Given the description of an element on the screen output the (x, y) to click on. 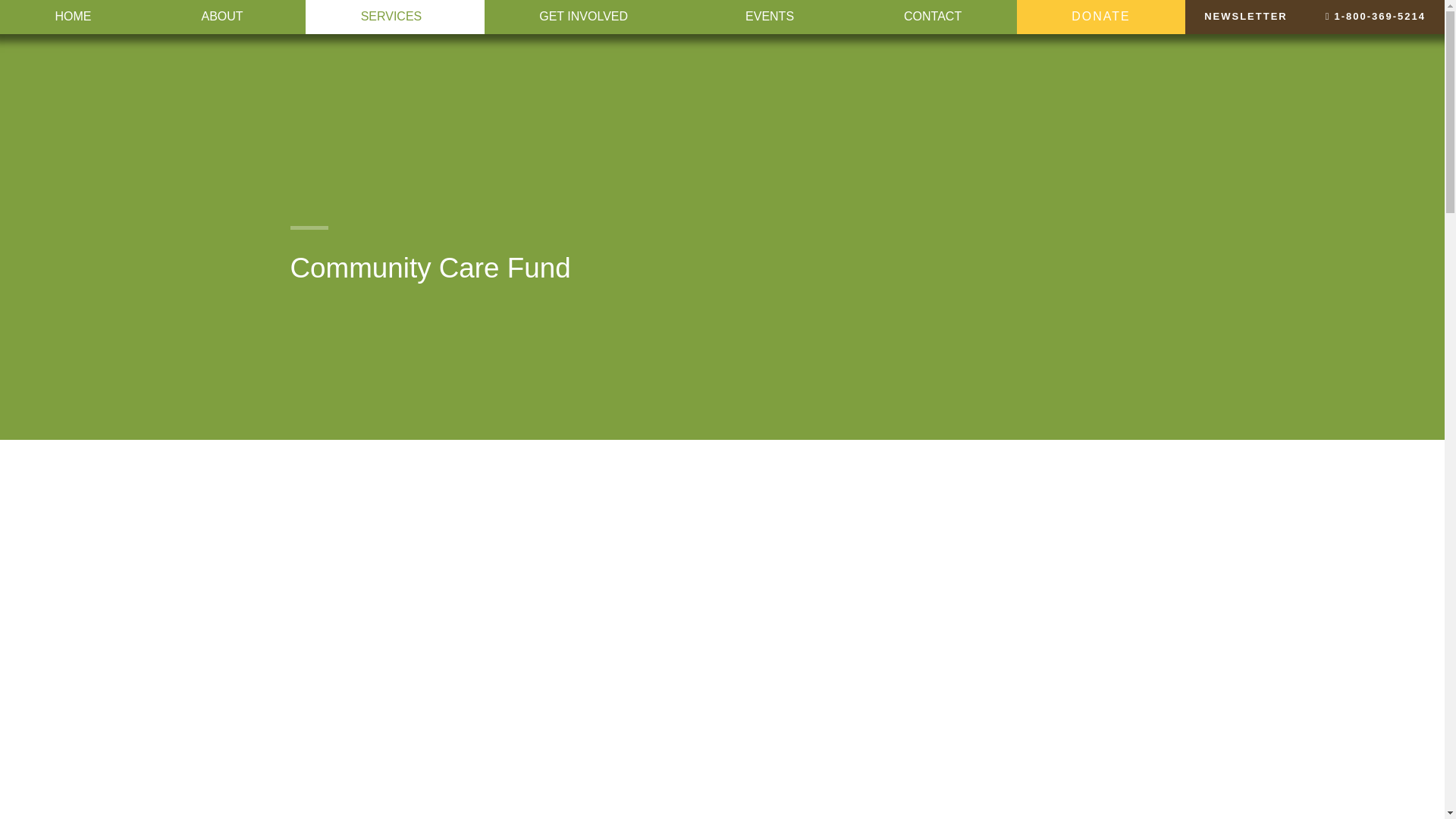
HOME (73, 16)
ABOUT (226, 16)
CONTACT (932, 16)
SERVICES (394, 16)
GET INVOLVED (587, 16)
DONATE (1100, 16)
1-800-369-5214 (1375, 17)
EVENTS (769, 16)
NEWSLETTER (1245, 17)
